Given the description of an element on the screen output the (x, y) to click on. 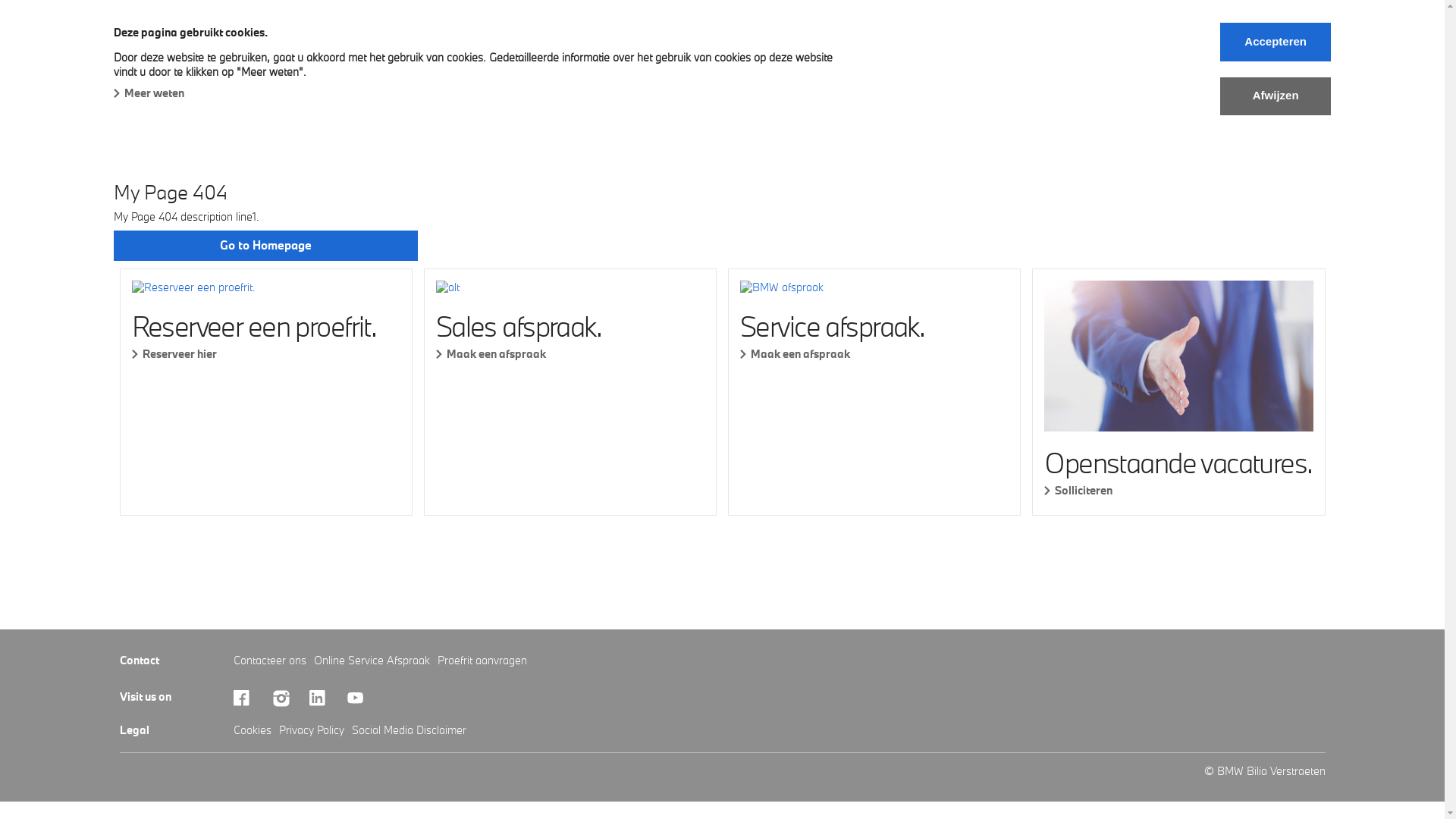
Maak een afspraak Element type: text (874, 353)
Go to Homepage Element type: text (265, 245)
Jobs Element type: text (717, 63)
Contacteer ons Element type: text (269, 659)
Cookies Element type: text (252, 729)
Snel leverbare wagens Element type: text (301, 63)
News Element type: text (659, 63)
Social Media Disclaimer Element type: text (408, 729)
Reserveer hier Element type: text (265, 353)
Proefrit aanvragen Element type: text (481, 659)
Privacy Policy Element type: text (311, 729)
Maak een afspraak Element type: text (570, 353)
Accepteren Element type: text (1275, 41)
Online Service Afspraak Element type: text (371, 659)
Naverkoop Element type: text (424, 63)
BMW Bilia Verstraeten Element type: text (177, 31)
Contact Element type: text (780, 63)
Nieuwe wagens Element type: text (163, 63)
Skip to main content Element type: text (0, 0)
Afwijzen Element type: text (1275, 95)
Solliciteren Element type: text (1178, 489)
BMW Financial Services Element type: text (548, 63)
Meer weten Element type: text (148, 92)
